Given the description of an element on the screen output the (x, y) to click on. 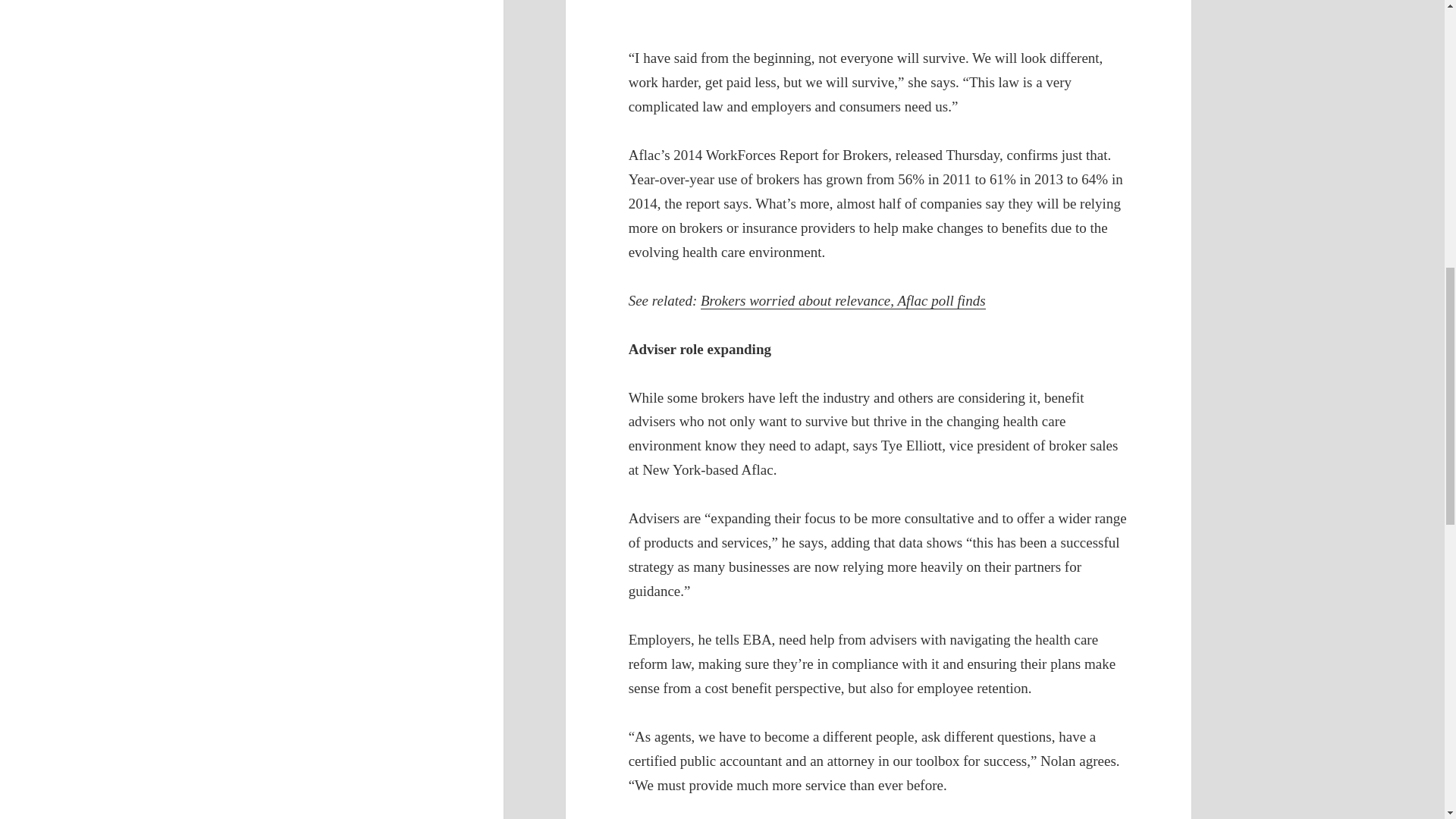
Brokers worried about relevance, Aflac poll finds (842, 300)
